Given the description of an element on the screen output the (x, y) to click on. 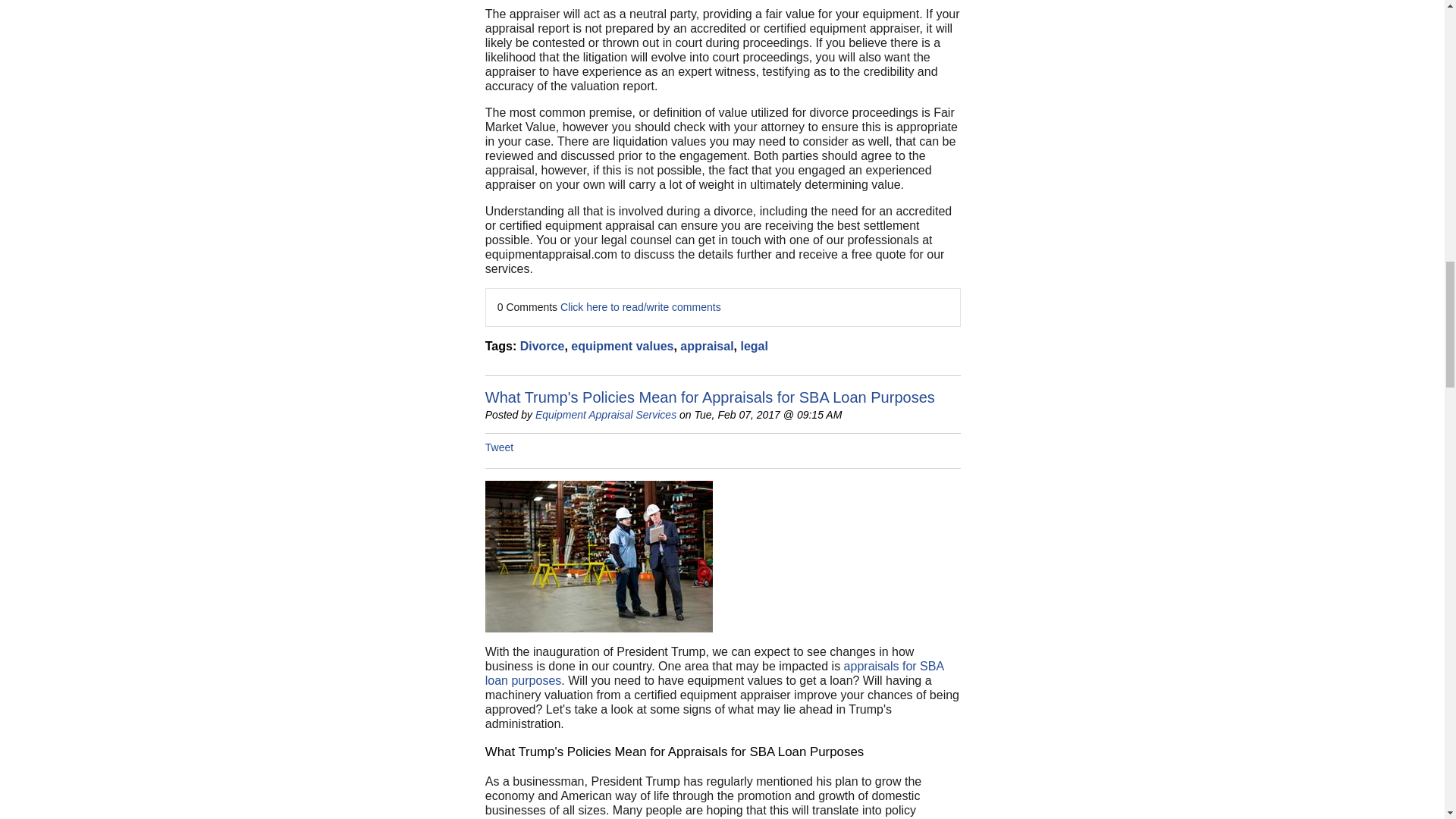
Divorce (541, 345)
equipment values (621, 345)
appraisals for SBA loan purposes (713, 673)
Tweet (498, 447)
Equipment Appraisal Services (606, 414)
legal (753, 345)
appraisal (706, 345)
